Given the description of an element on the screen output the (x, y) to click on. 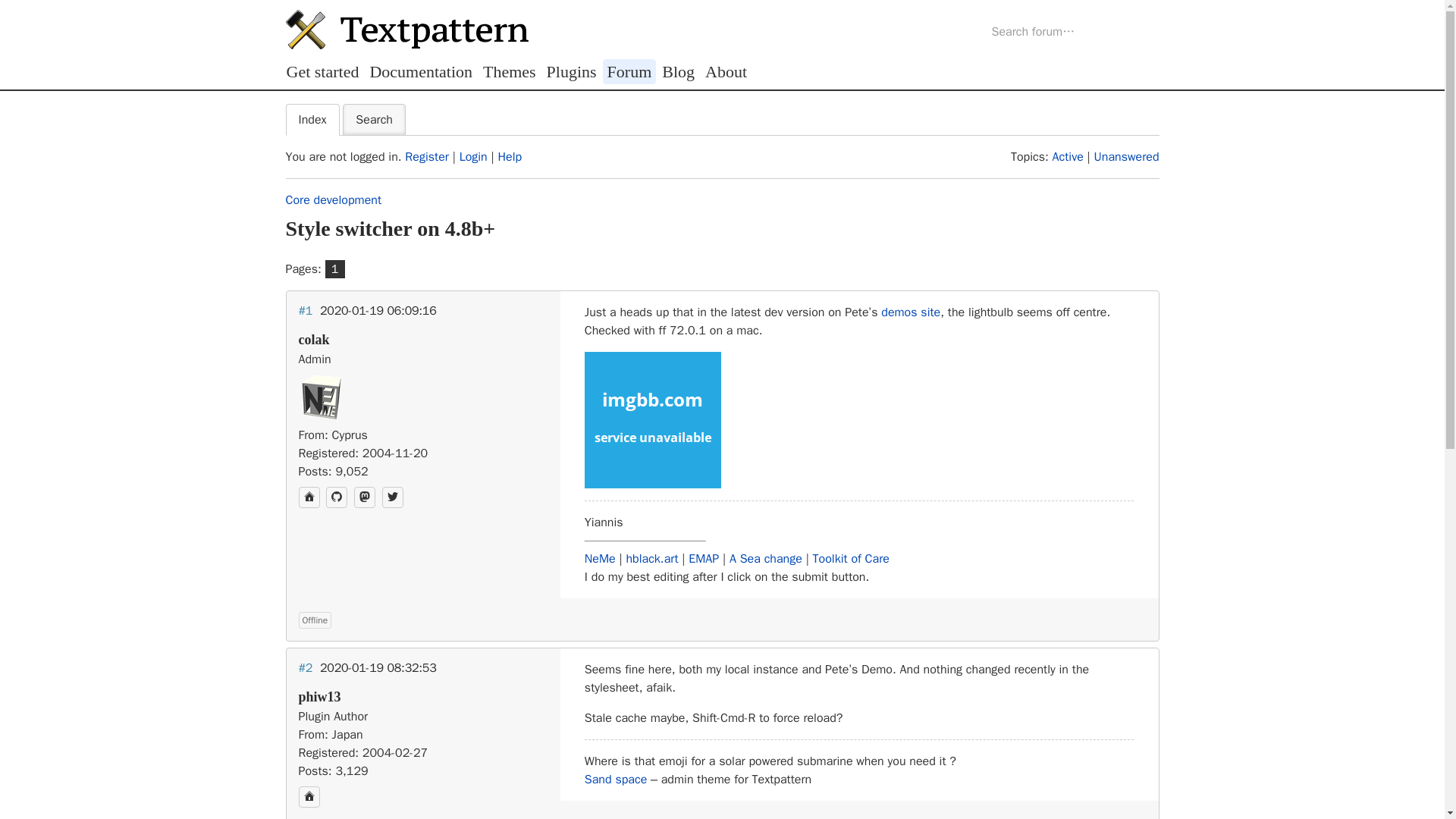
2020-01-19 08:32:53 (378, 667)
2020-01-19 06:09:16 (378, 310)
Search (374, 119)
Mastodon (364, 496)
GitHub (336, 496)
Textpattern CMS (406, 29)
Website (309, 496)
hblack.art (652, 558)
Sand space (615, 779)
Core development (333, 200)
